Given the description of an element on the screen output the (x, y) to click on. 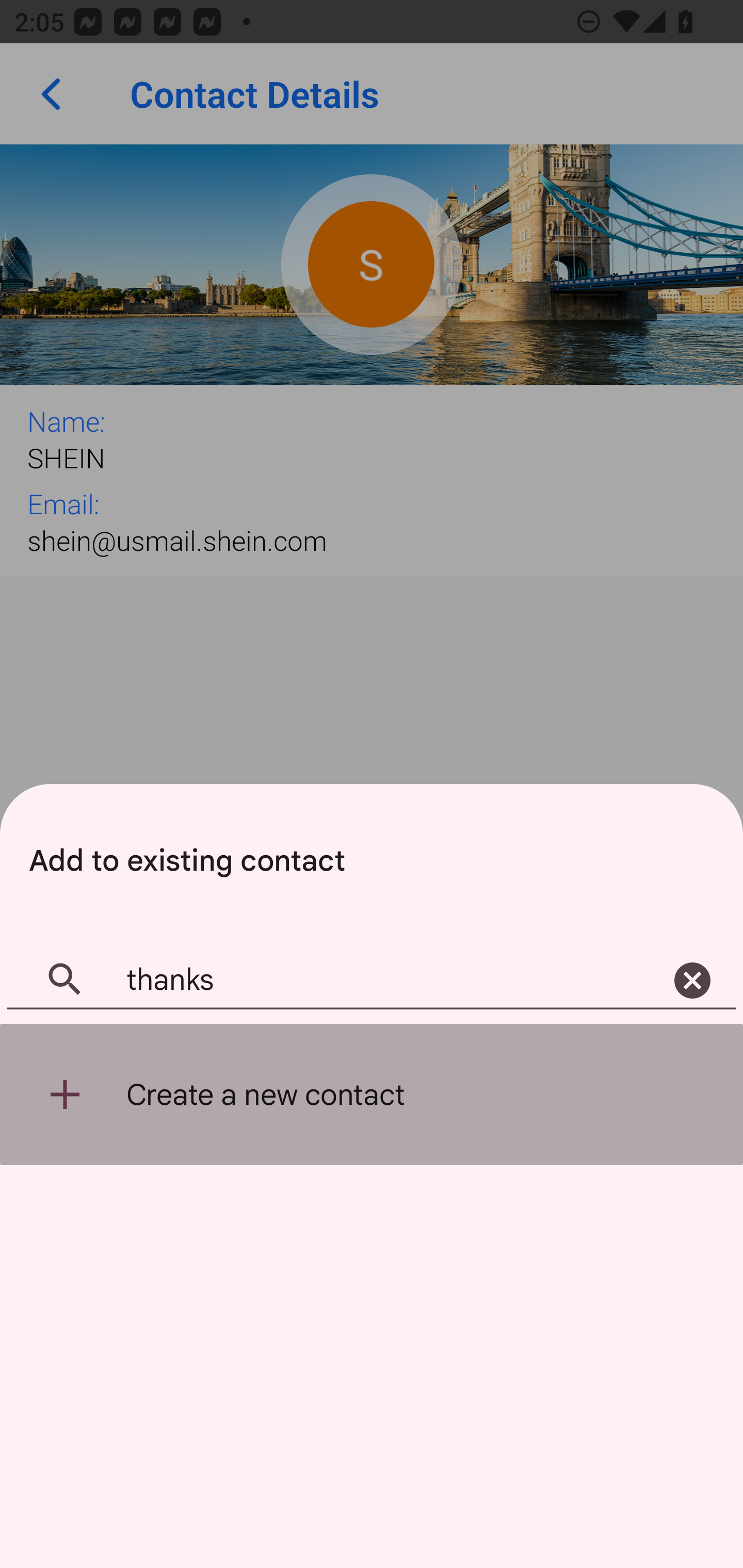
thanks (371, 980)
Clear search (692, 980)
